Given the description of an element on the screen output the (x, y) to click on. 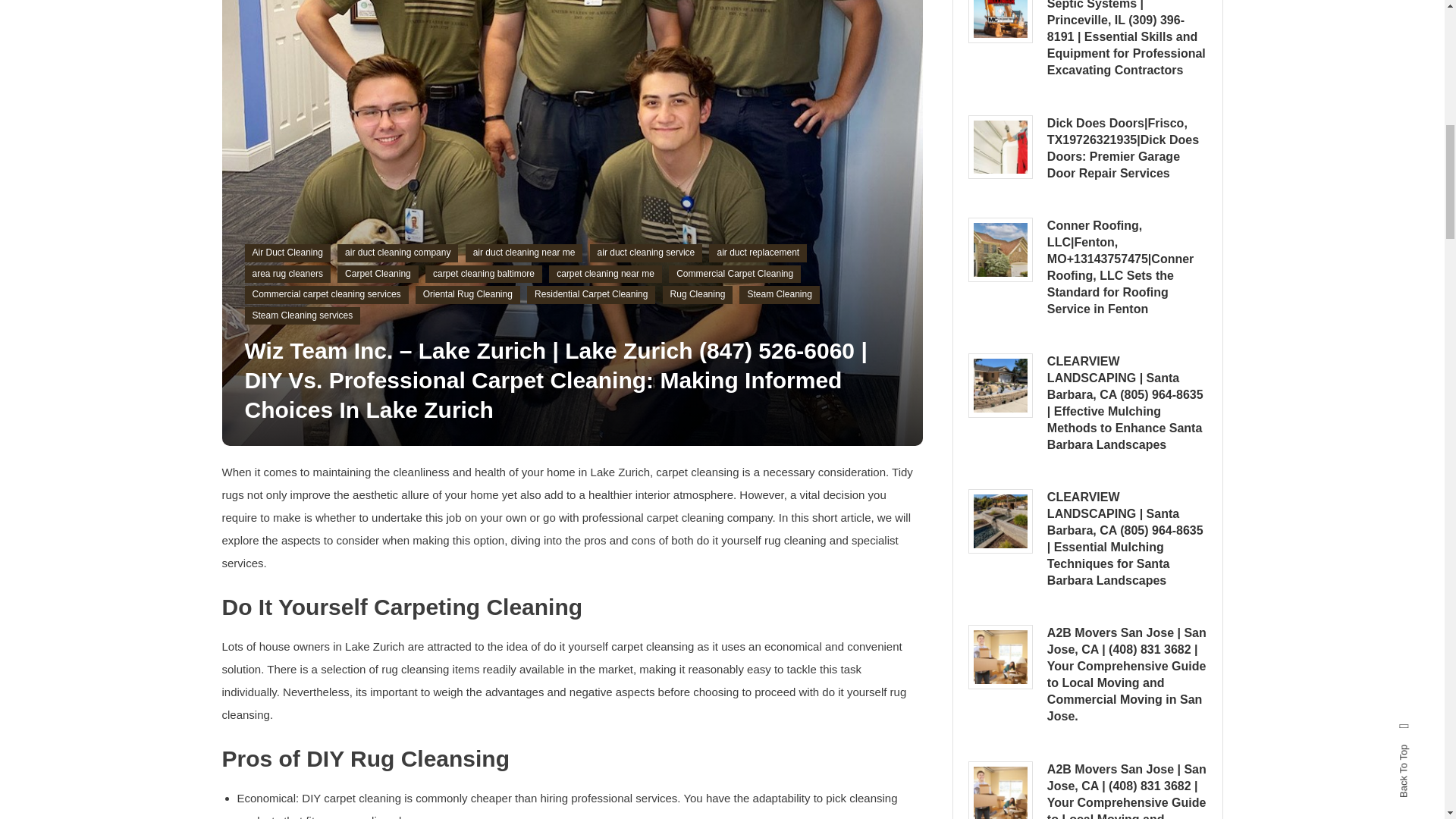
Air Duct Cleaning (287, 253)
